Given the description of an element on the screen output the (x, y) to click on. 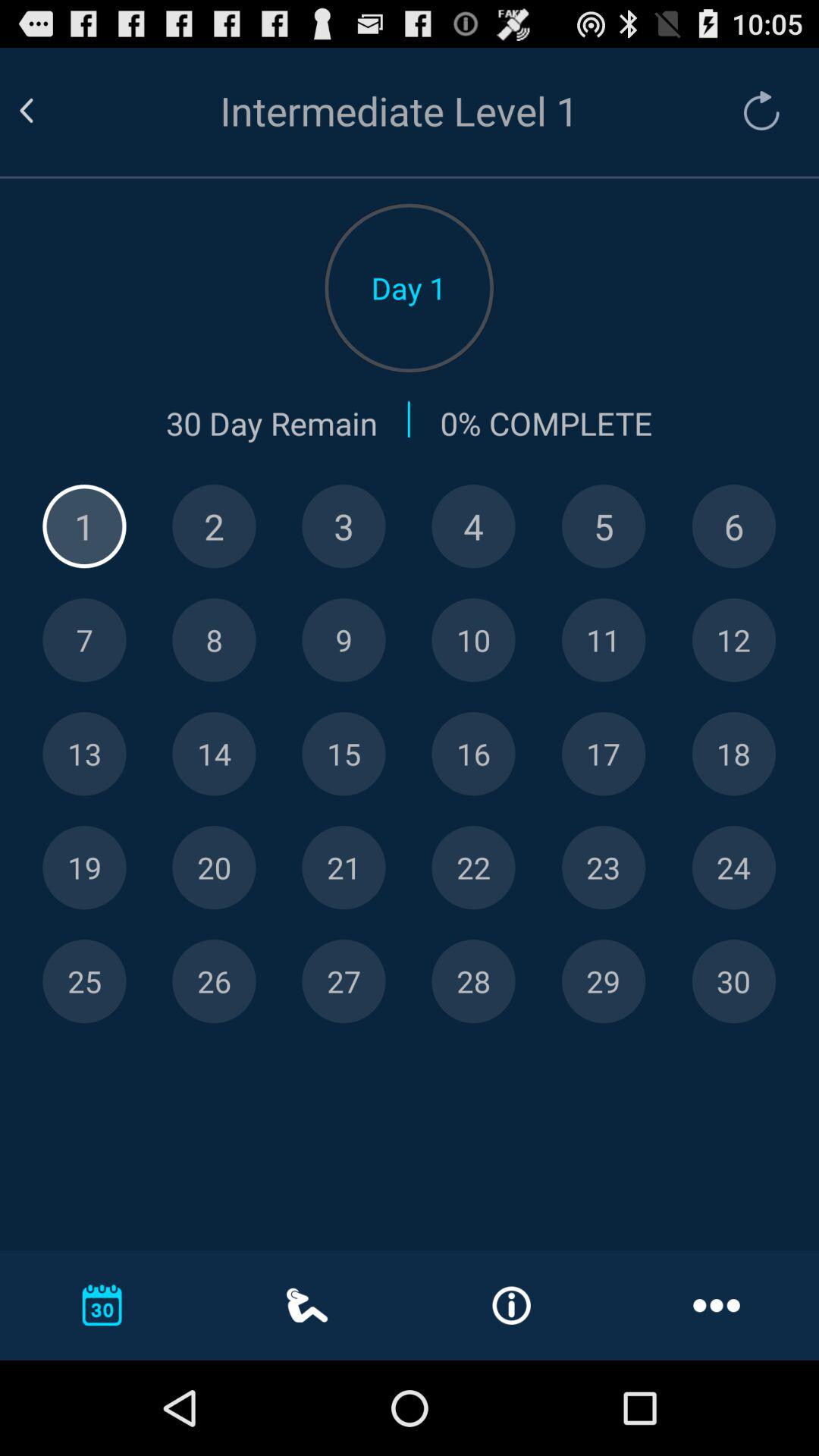
select number 27 (343, 981)
